Given the description of an element on the screen output the (x, y) to click on. 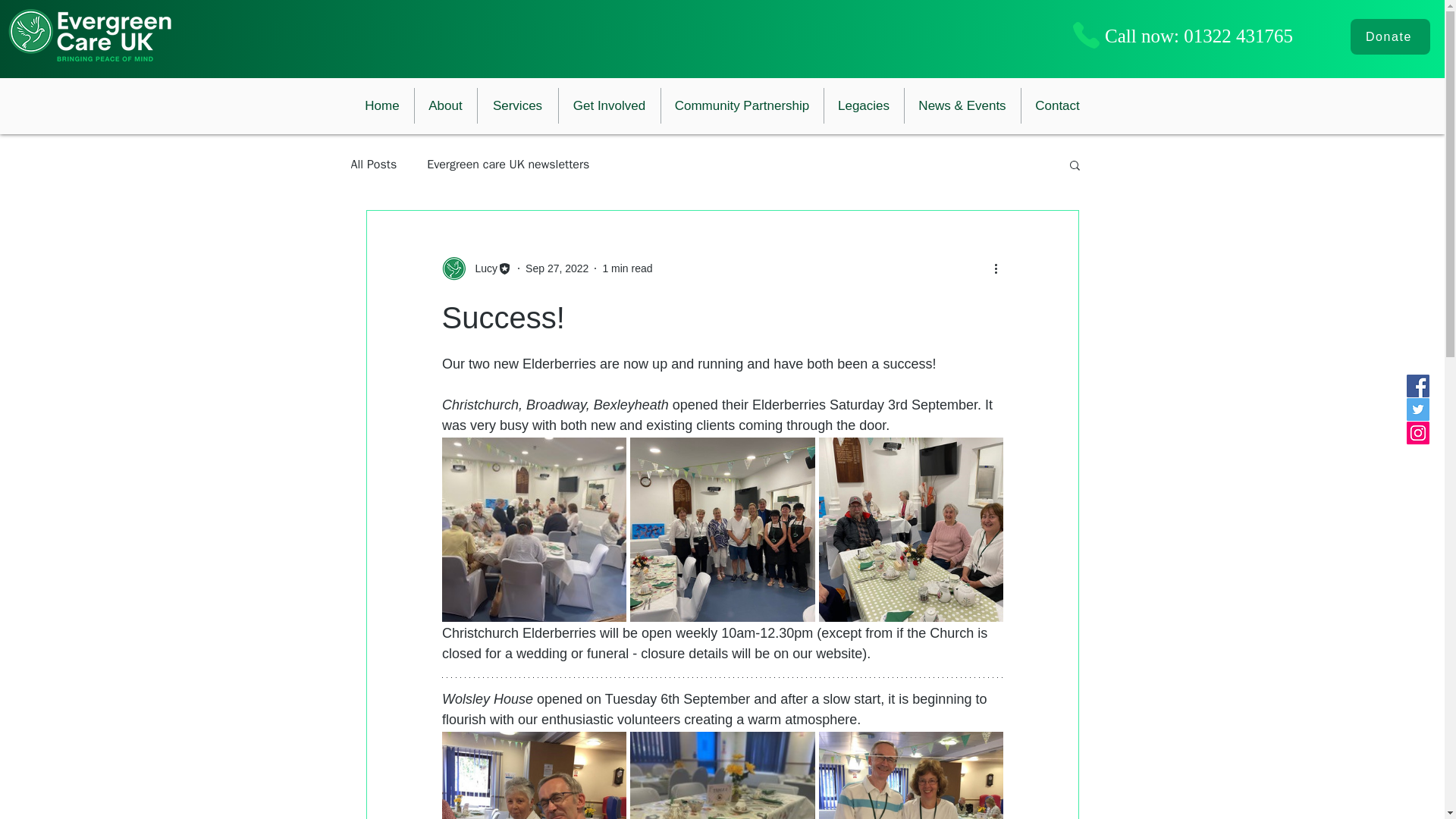
Contact (1056, 105)
About (444, 105)
Services (517, 105)
Sep 27, 2022 (556, 268)
EG LOGO 2021-01.png (89, 35)
Donate (1390, 36)
Lucy  (481, 268)
Home (381, 105)
All Posts (373, 163)
1 min read (627, 268)
